Given the description of an element on the screen output the (x, y) to click on. 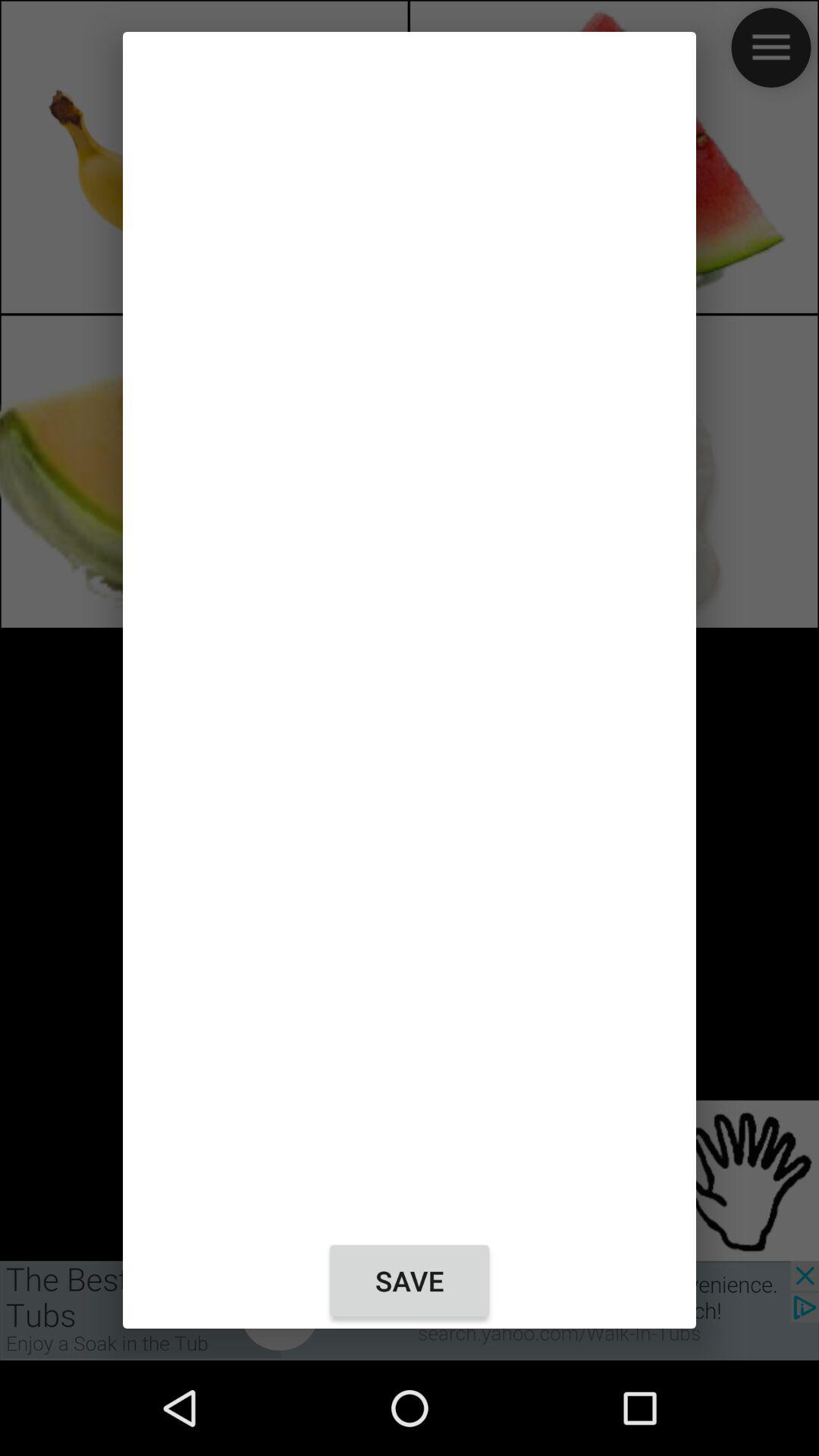
open the icon above save icon (409, 632)
